Given the description of an element on the screen output the (x, y) to click on. 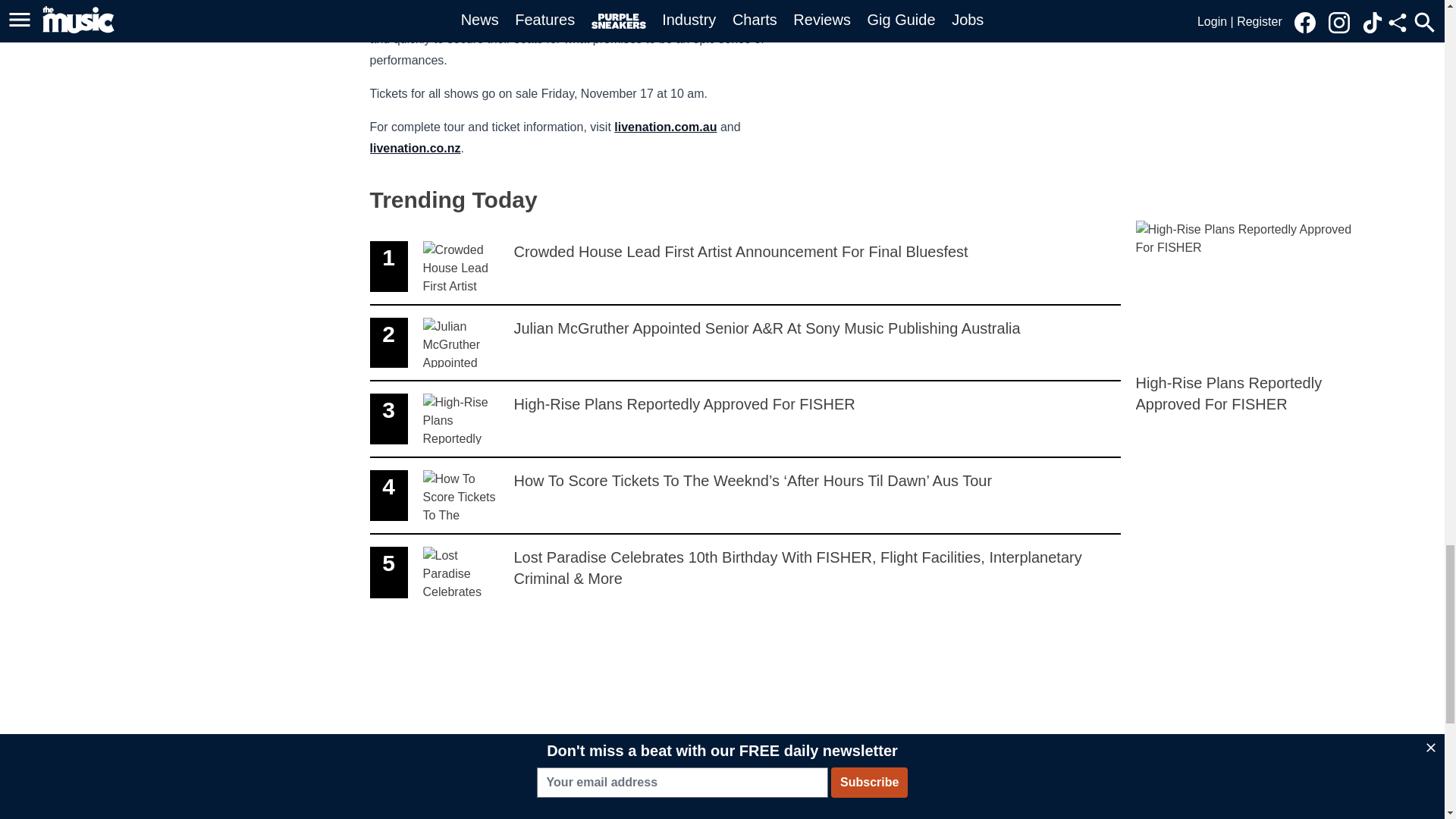
livenation.co.nz (745, 419)
High-Rise Plans Reportedly Approved For FISHER (415, 147)
livenation.com.au (1248, 317)
